Given the description of an element on the screen output the (x, y) to click on. 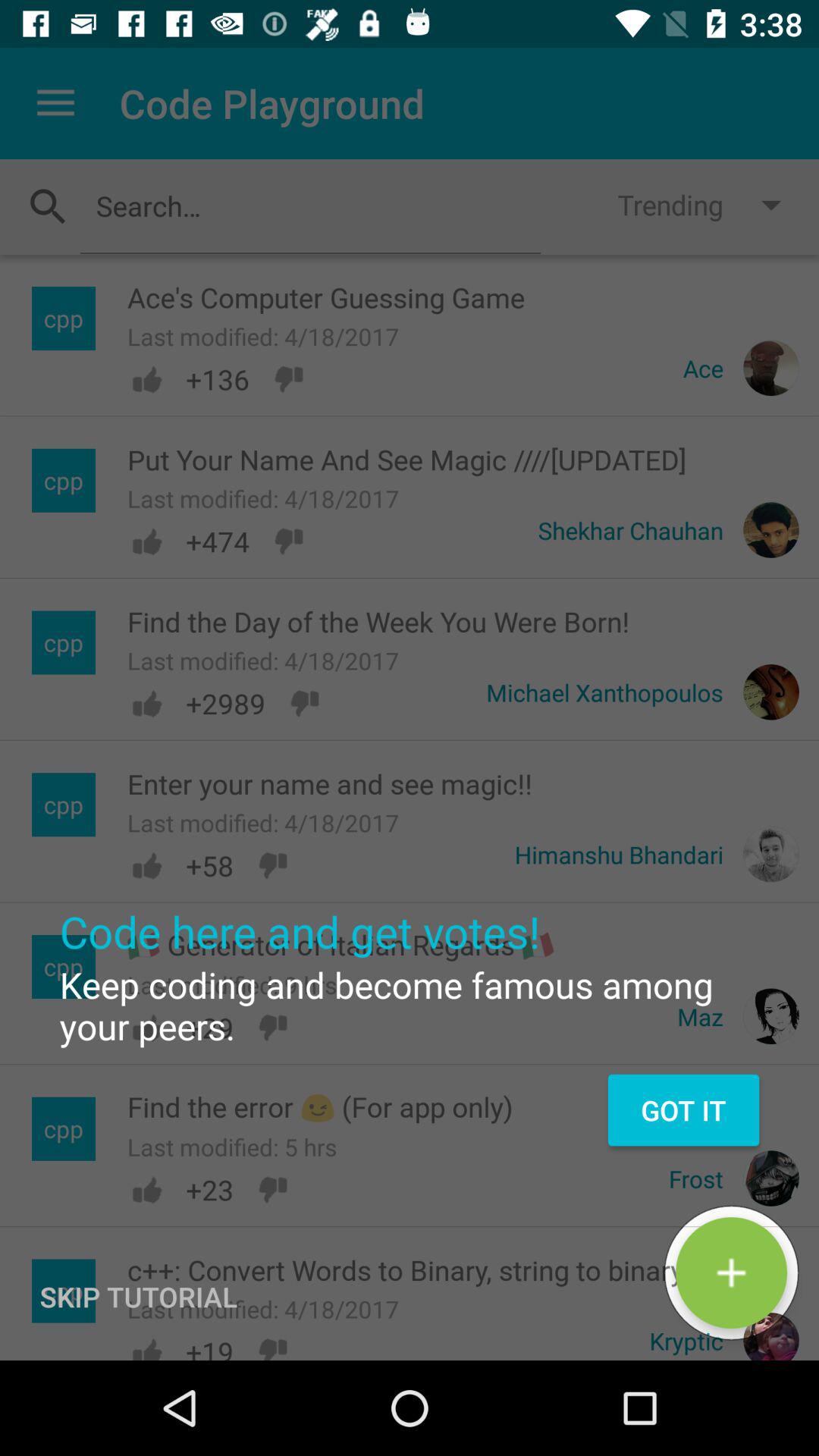
select the icon to the left of code playground item (55, 103)
